Given the description of an element on the screen output the (x, y) to click on. 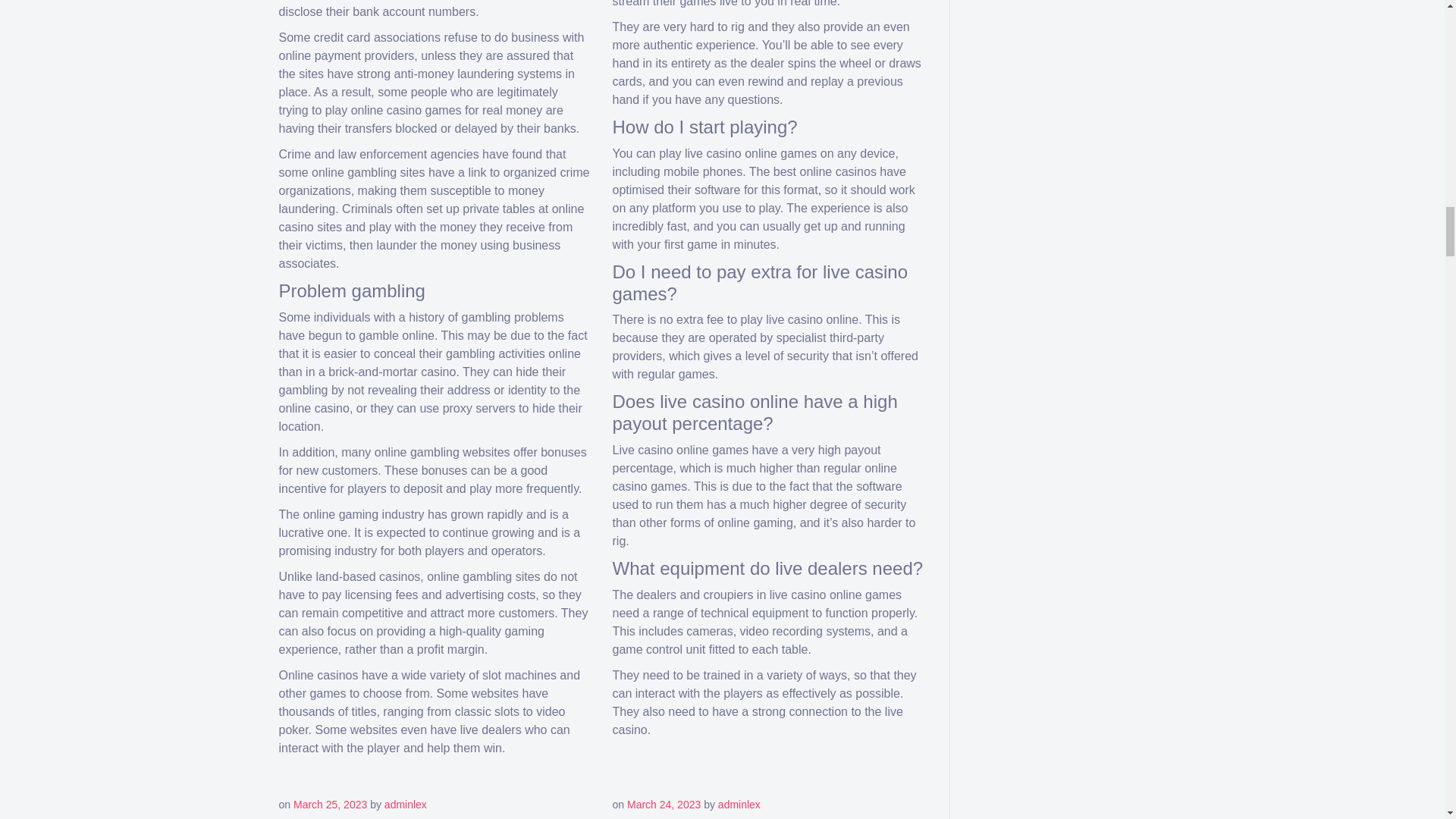
adminlex (738, 804)
adminlex (405, 804)
March 25, 2023 (330, 804)
March 24, 2023 (663, 804)
